Given the description of an element on the screen output the (x, y) to click on. 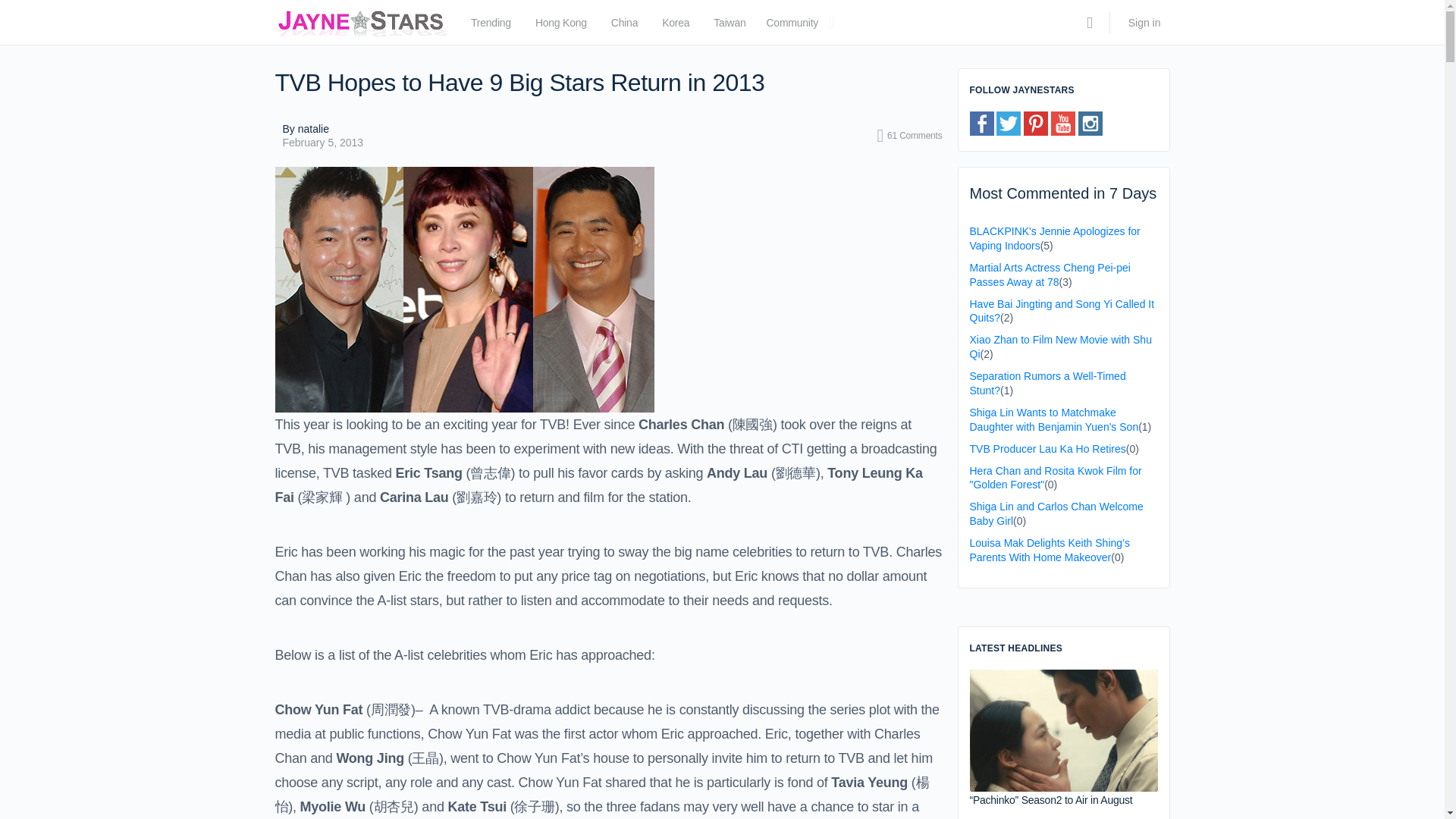
February 5, 2013 (322, 142)
Hong Kong (560, 25)
Community (791, 25)
Sign in (1144, 22)
By natalie (322, 128)
61 Comments (909, 135)
